Given the description of an element on the screen output the (x, y) to click on. 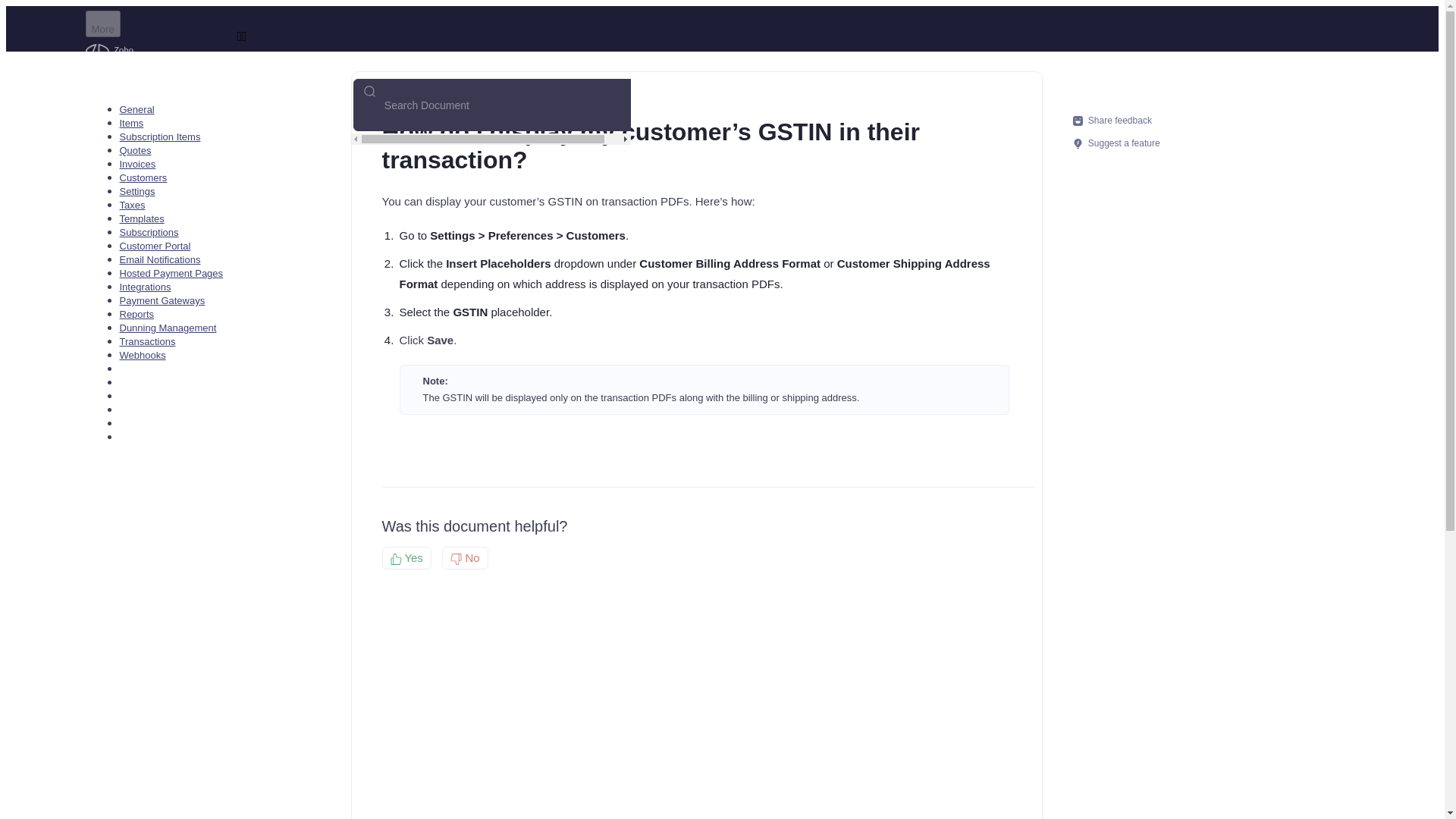
Webhooks (142, 354)
Hosted Payment Pages (171, 272)
Transactions (147, 341)
Payment Gateways (162, 300)
Quotes (135, 149)
Integrations (145, 286)
Print this page (1003, 120)
Templates (141, 218)
Customer Portal (154, 245)
More (101, 23)
Customers (143, 177)
General (136, 108)
Items (131, 122)
Invoices (137, 163)
Share feedback (1114, 119)
